Given the description of an element on the screen output the (x, y) to click on. 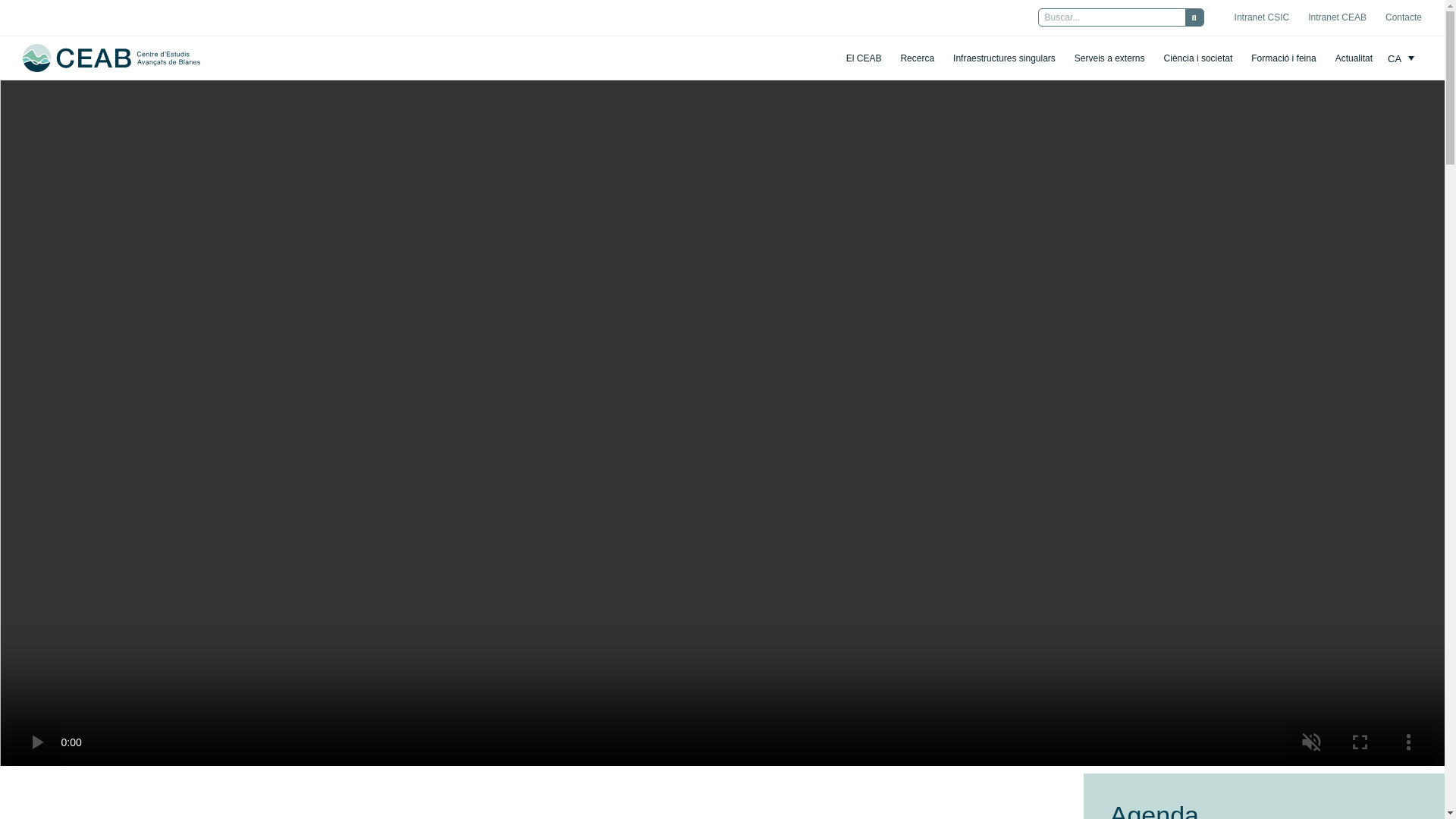
Serveis a externs (1109, 57)
El CEAB (863, 57)
Infraestructures singulars (1004, 57)
Recerca (916, 57)
Intranet CEAB (1337, 17)
Intranet CSIC (1262, 17)
Contacte (1404, 17)
